Given the description of an element on the screen output the (x, y) to click on. 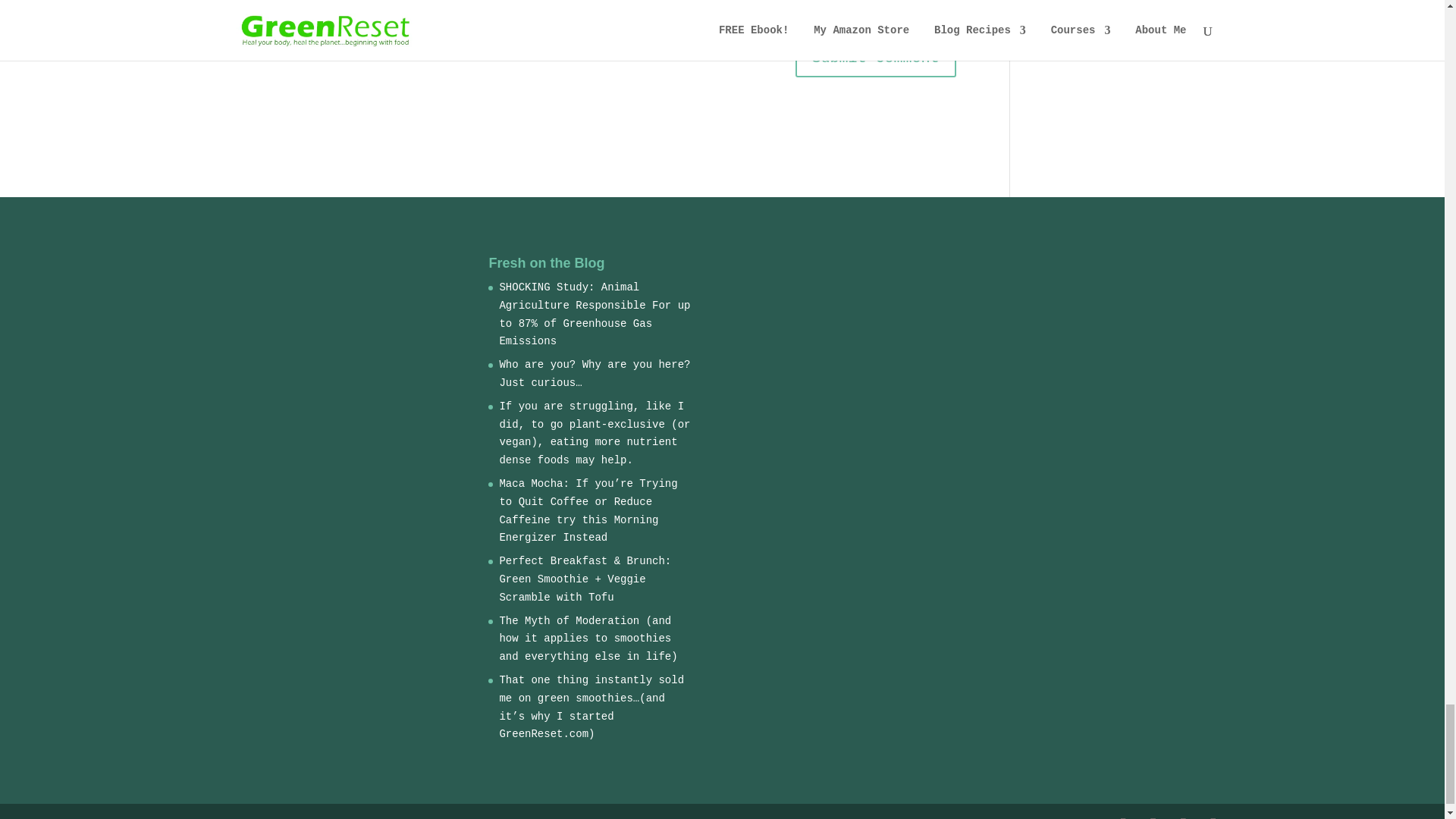
yes (235, 13)
Submit Comment (875, 57)
